Given the description of an element on the screen output the (x, y) to click on. 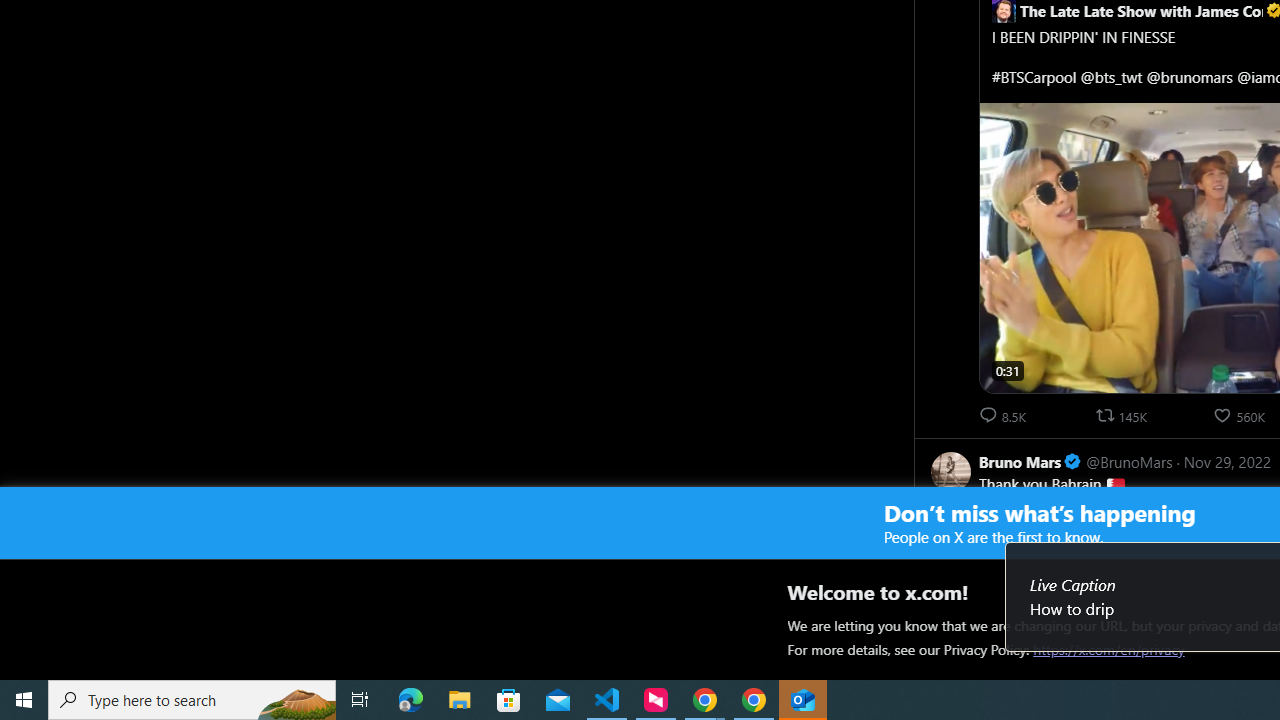
Nov 29, 2022 (1226, 461)
Bruno Mars Verified account (1030, 461)
560057 Likes. Like (1240, 415)
@BrunoMars (1128, 461)
8535 Replies. Reply (1004, 415)
https://x.com/en/privacy (1108, 649)
Verified account (1071, 462)
145681 reposts. Repost (1123, 415)
